Given the description of an element on the screen output the (x, y) to click on. 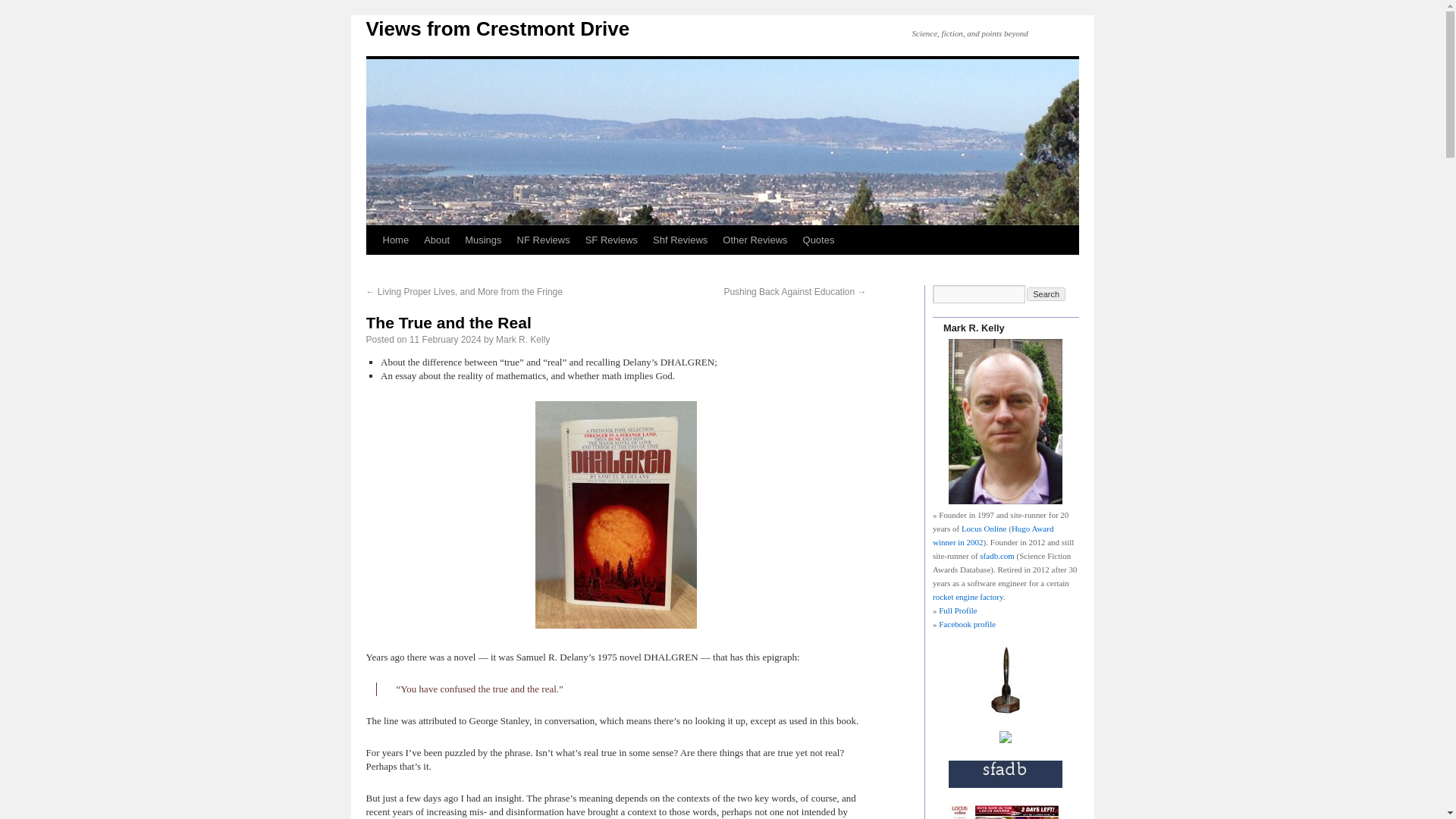
Working at the Rocket Factory, for 30 years (1004, 739)
Winner of Hugo Award in 2002 (1005, 709)
5:24 pm (445, 339)
About (436, 240)
Home (395, 240)
Search (1045, 294)
View all posts by Mark R. Kelly (523, 339)
Views from Crestmont Drive (496, 28)
Views from Crestmont Drive (496, 28)
